Given the description of an element on the screen output the (x, y) to click on. 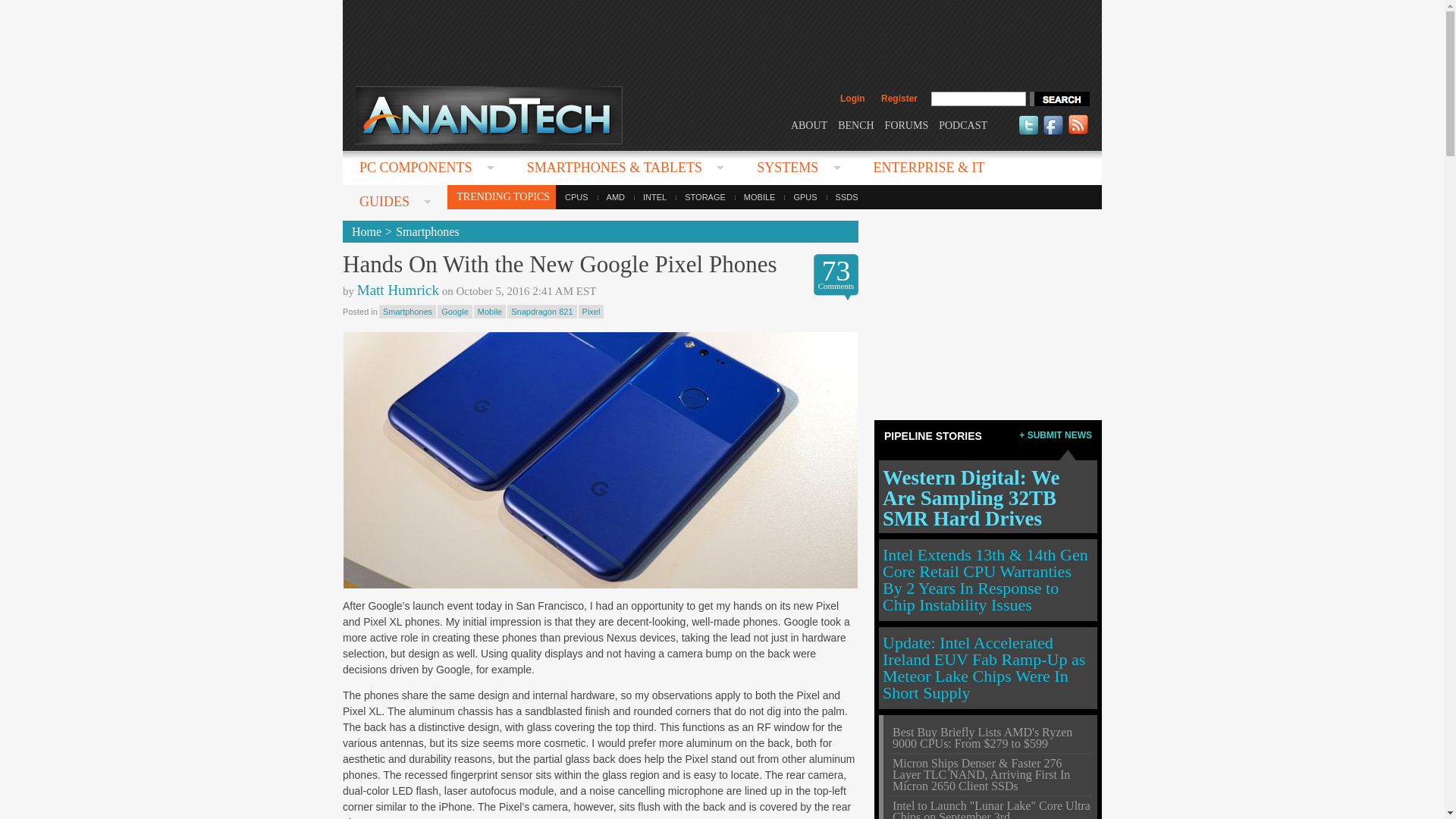
BENCH (855, 125)
FORUMS (906, 125)
PODCAST (963, 125)
search (1059, 98)
search (1059, 98)
Register (898, 98)
ABOUT (808, 125)
Login (852, 98)
search (1059, 98)
